Given the description of an element on the screen output the (x, y) to click on. 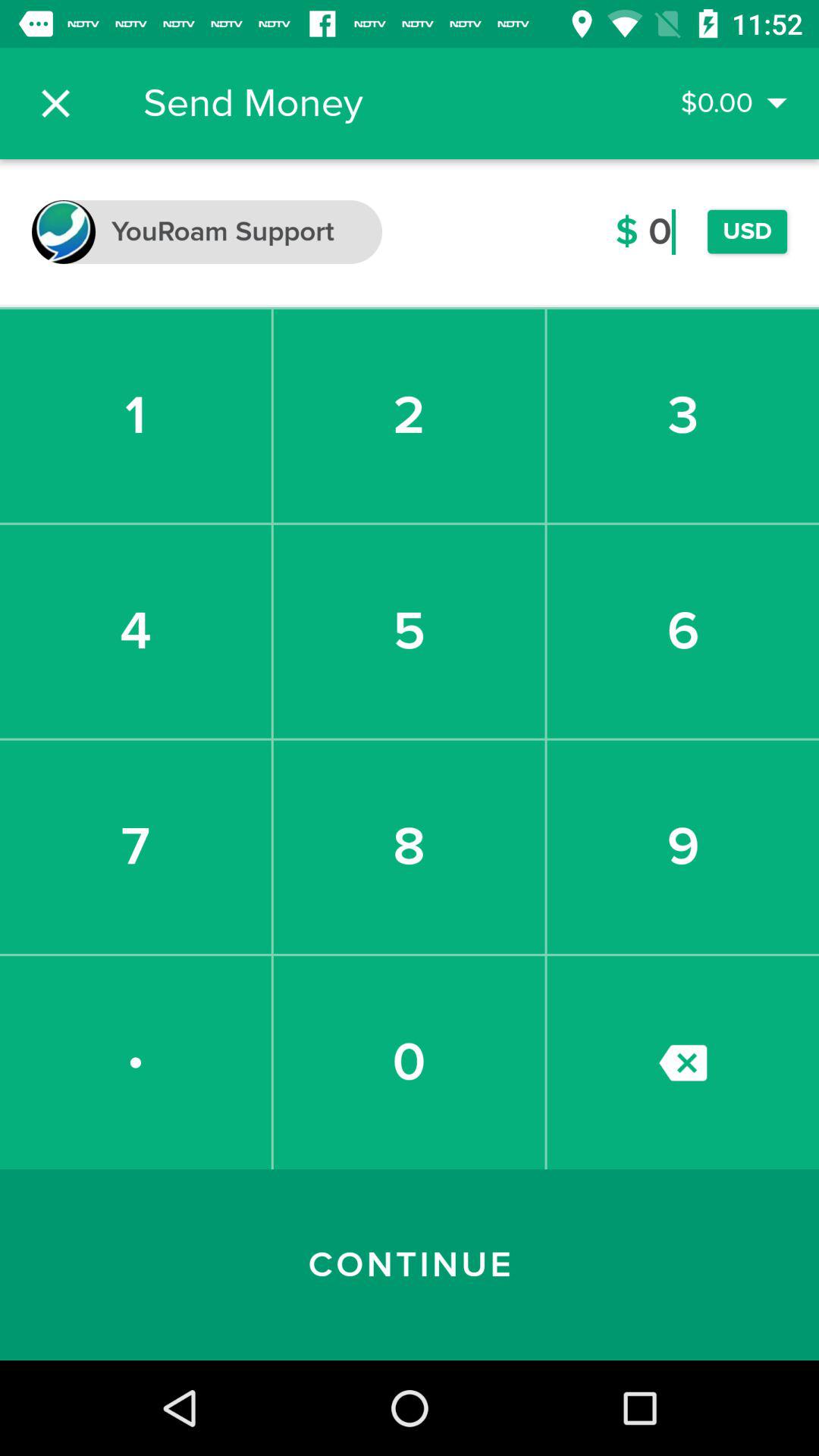
launch 2 icon (408, 415)
